Given the description of an element on the screen output the (x, y) to click on. 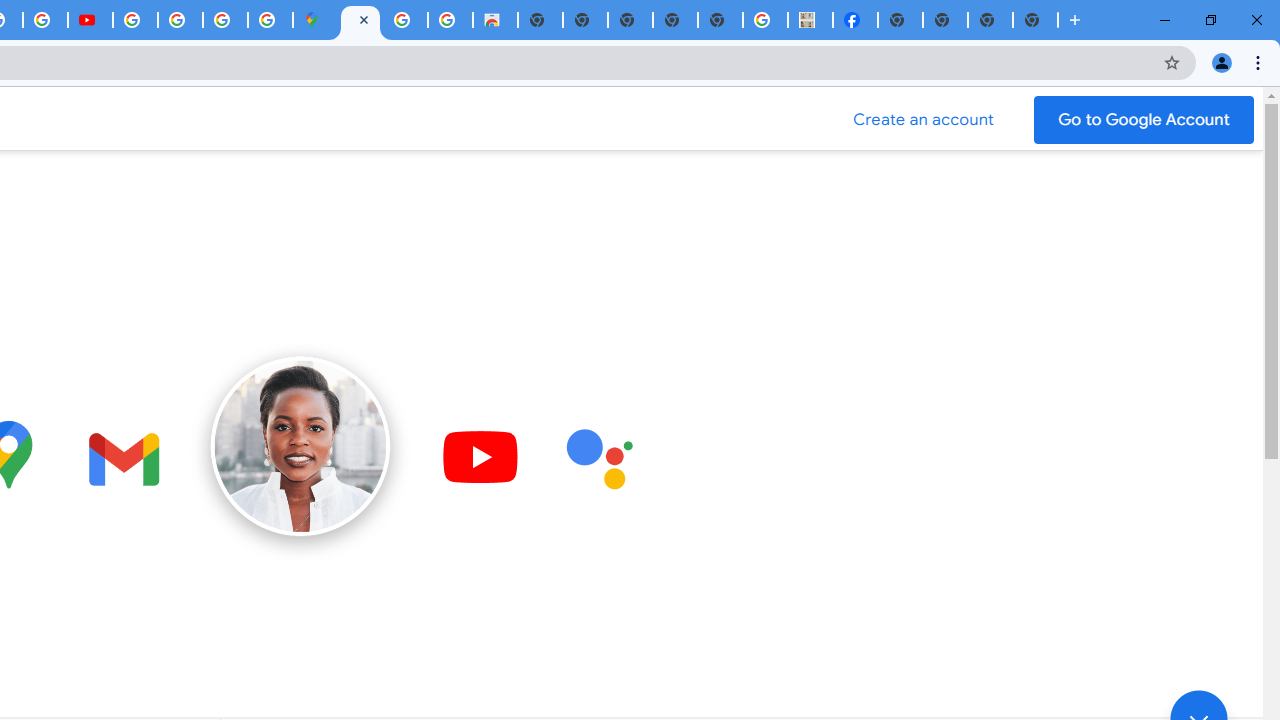
Miley Cyrus | Facebook (855, 20)
Google Maps (315, 20)
Chrome Web Store - Shopping (495, 20)
Create a Google Account (923, 119)
Go to your Google Account (1144, 119)
